Given the description of an element on the screen output the (x, y) to click on. 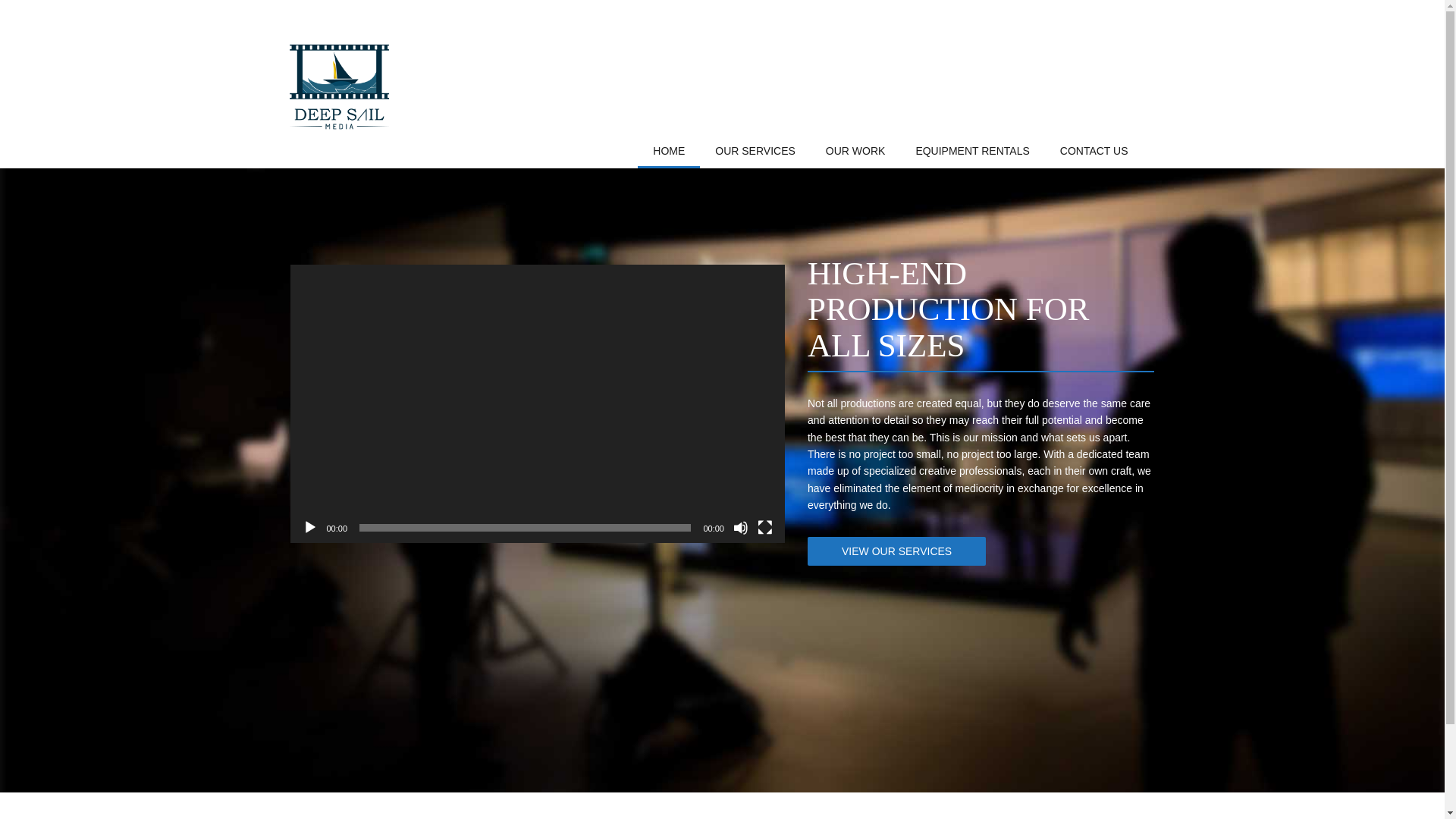
Mute (740, 527)
VIEW OUR SERVICES (896, 551)
OUR WORK (855, 151)
Play (309, 527)
HOME (668, 151)
Fullscreen (765, 527)
OUR SERVICES (755, 151)
EQUIPMENT RENTALS (971, 151)
CONTACT US (1093, 151)
